Given the description of an element on the screen output the (x, y) to click on. 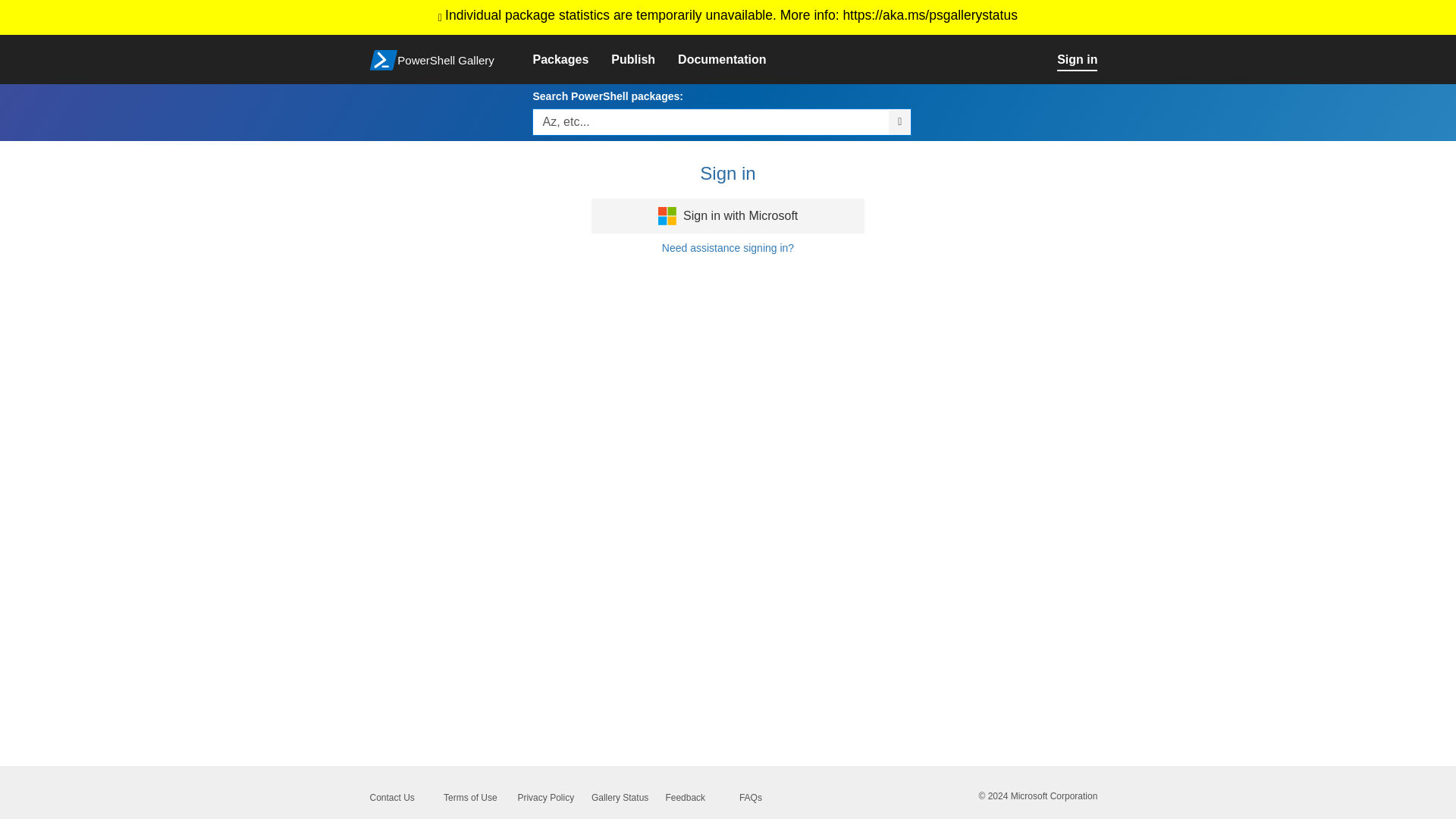
Search PowerShell packages (899, 121)
Contact Us (391, 797)
Need assistance signing in? (727, 247)
FAQs (750, 797)
Publish (644, 59)
Packages (571, 59)
Privacy Policy (544, 797)
PowerShell Gallery (442, 58)
Sign in (1088, 59)
Gallery Status (619, 797)
Terms of Use (470, 797)
Sign in with Microsoft (727, 216)
Feedback (684, 797)
Documentation (733, 59)
